Given the description of an element on the screen output the (x, y) to click on. 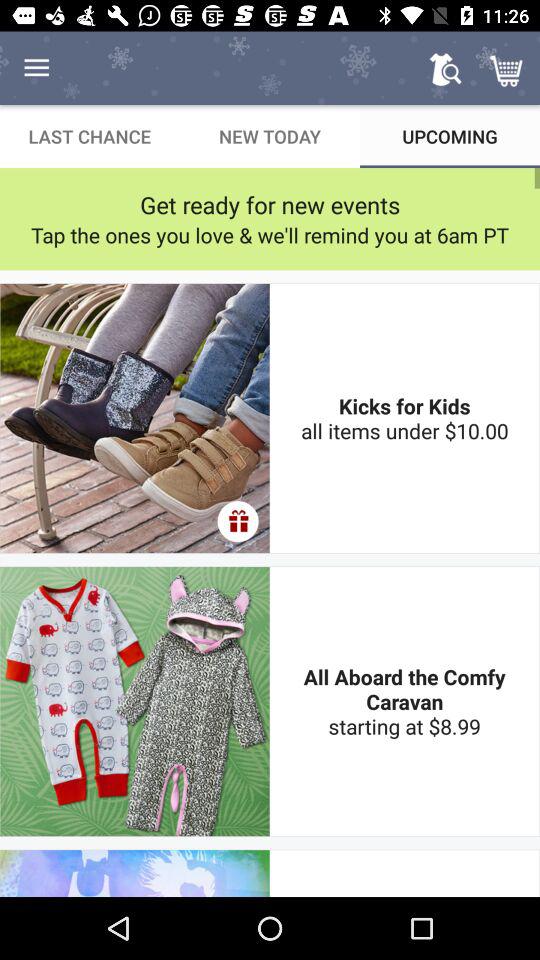
scroll until the kicks for kids icon (404, 418)
